Given the description of an element on the screen output the (x, y) to click on. 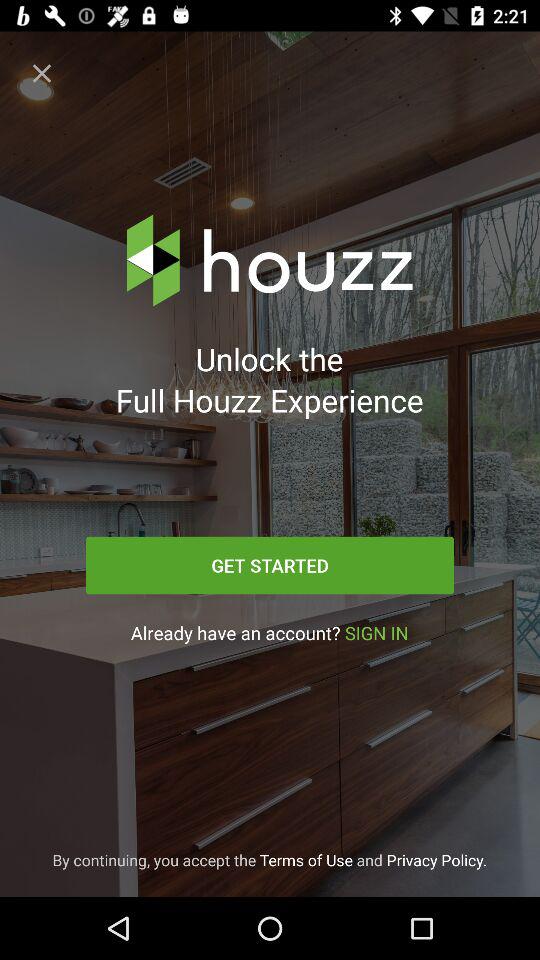
open the icon above already have an item (269, 565)
